Given the description of an element on the screen output the (x, y) to click on. 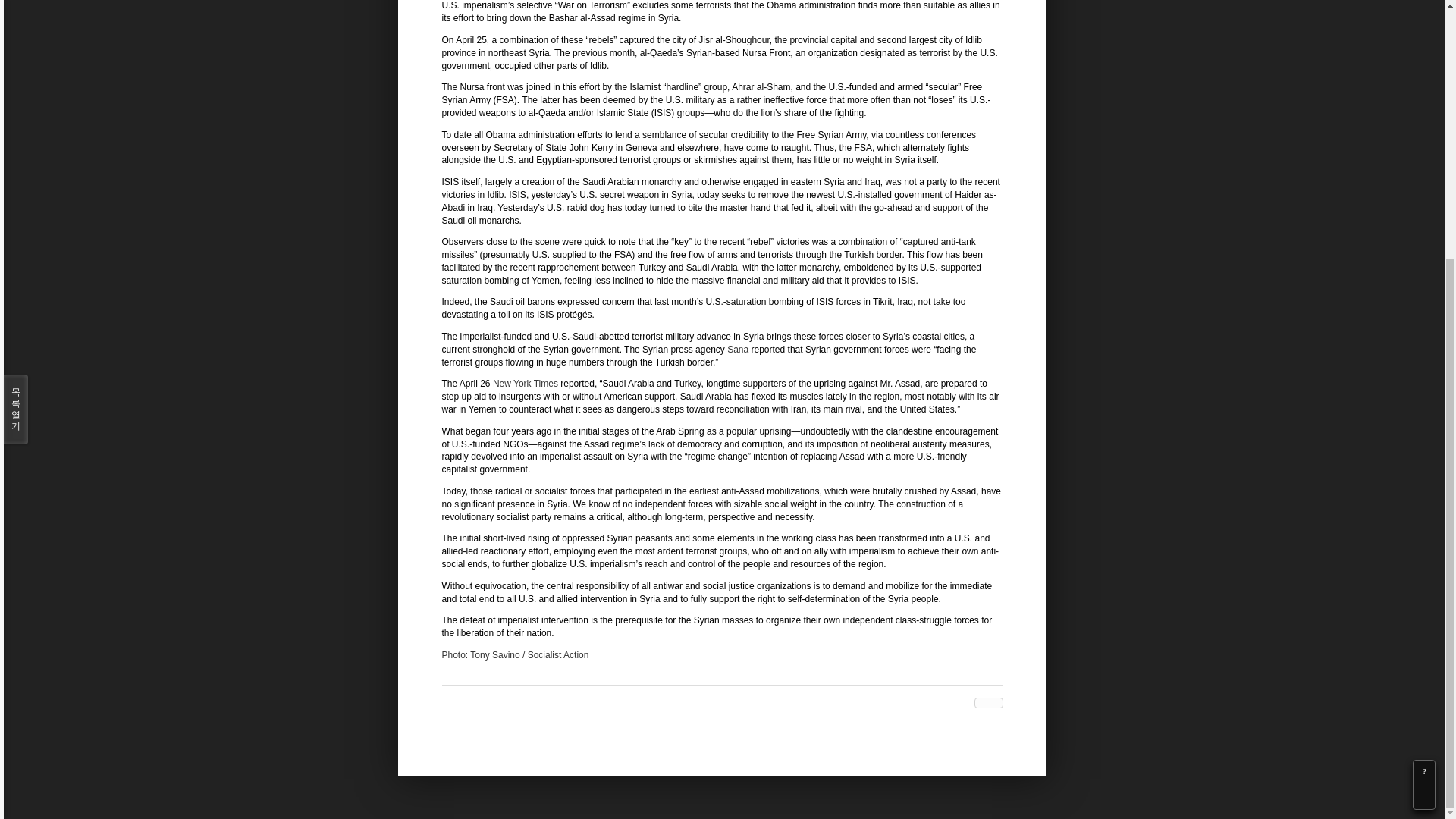
? (1423, 401)
